Given the description of an element on the screen output the (x, y) to click on. 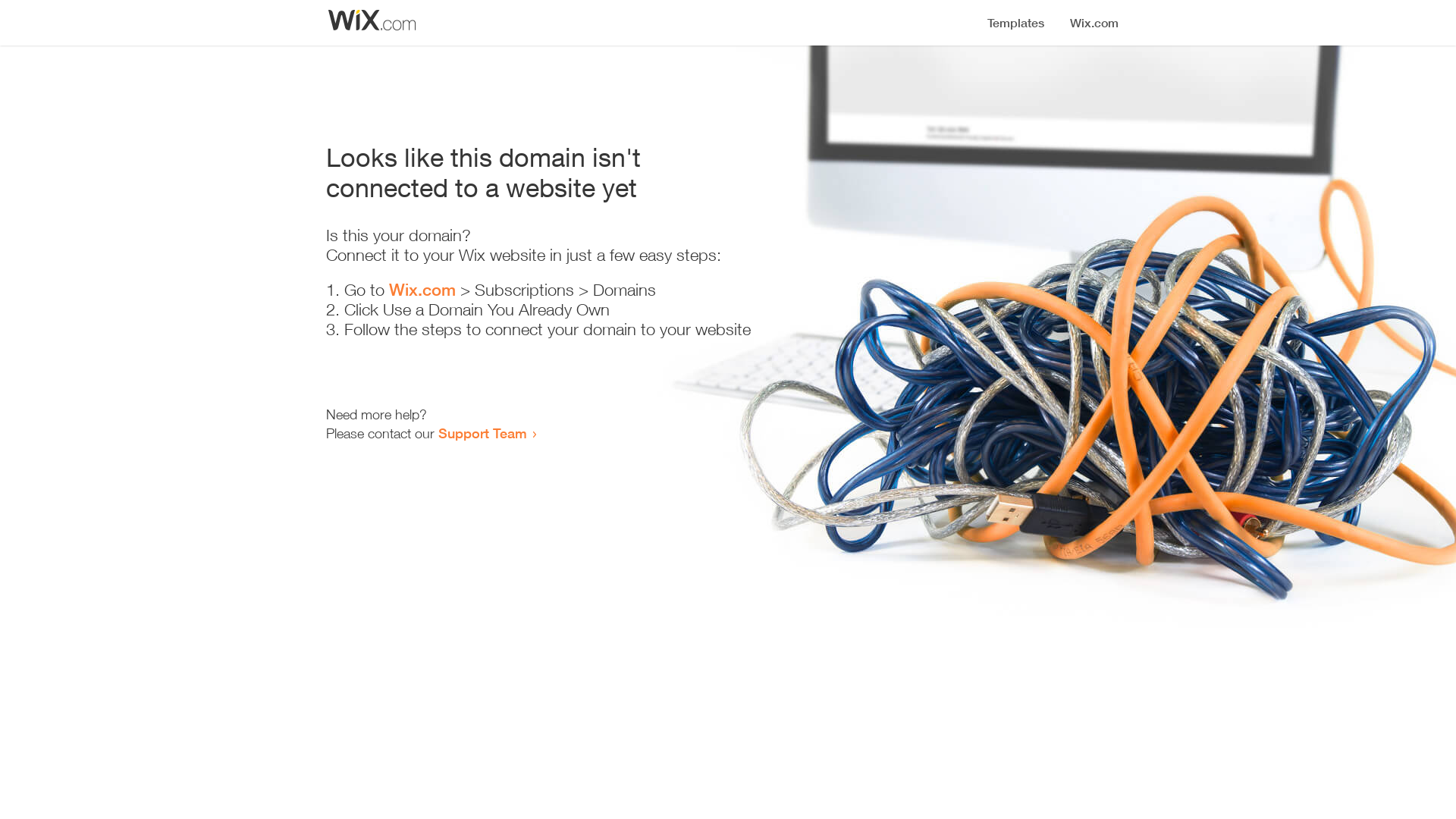
Wix.com Element type: text (422, 289)
Support Team Element type: text (482, 432)
